Given the description of an element on the screen output the (x, y) to click on. 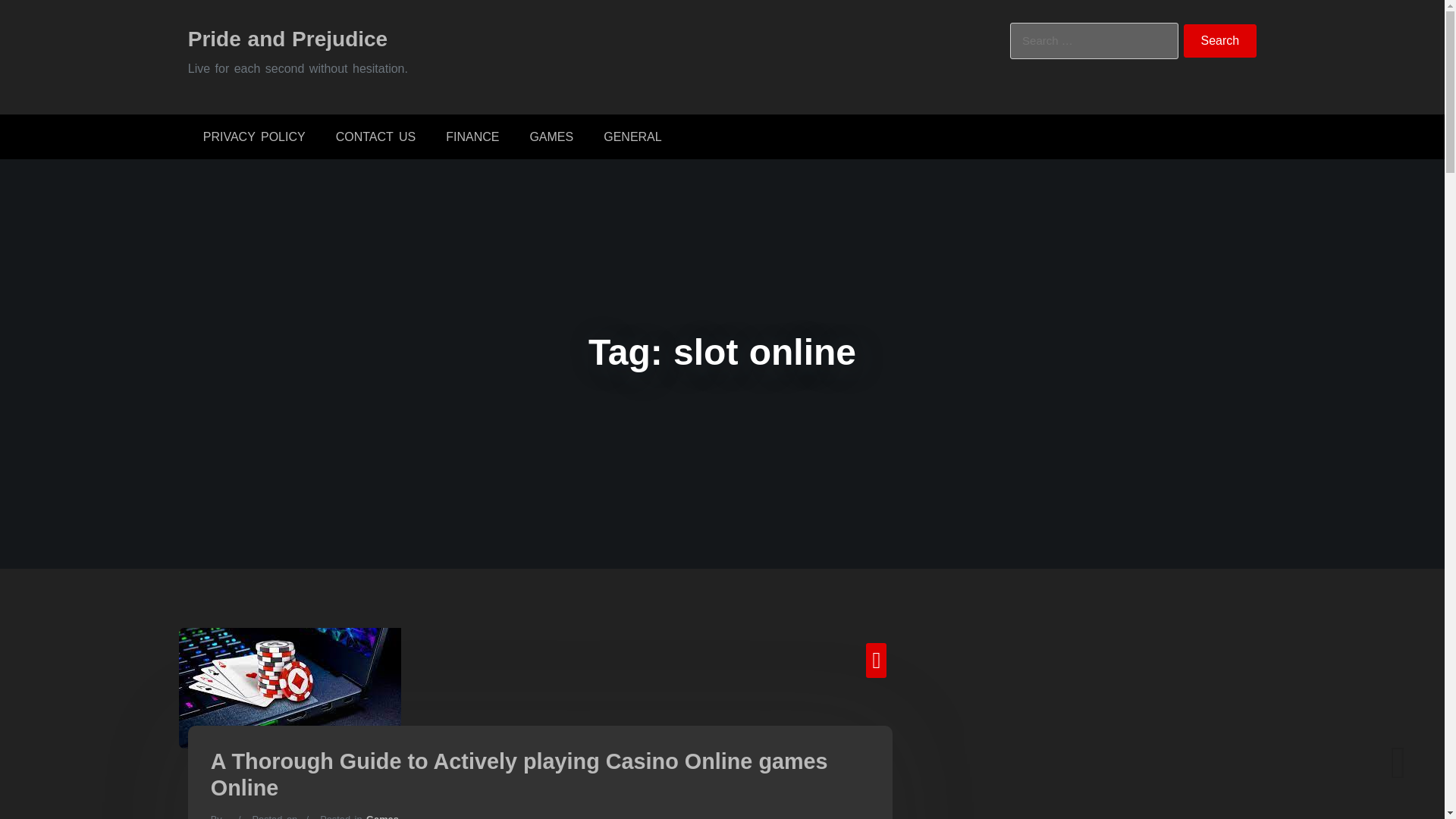
PRIVACY POLICY (253, 136)
GENERAL (632, 136)
Search (1220, 40)
Games (382, 816)
GAMES (550, 136)
CONTACT US (375, 136)
Pride and Prejudice (287, 38)
Search (1220, 40)
FINANCE (471, 136)
